Given the description of an element on the screen output the (x, y) to click on. 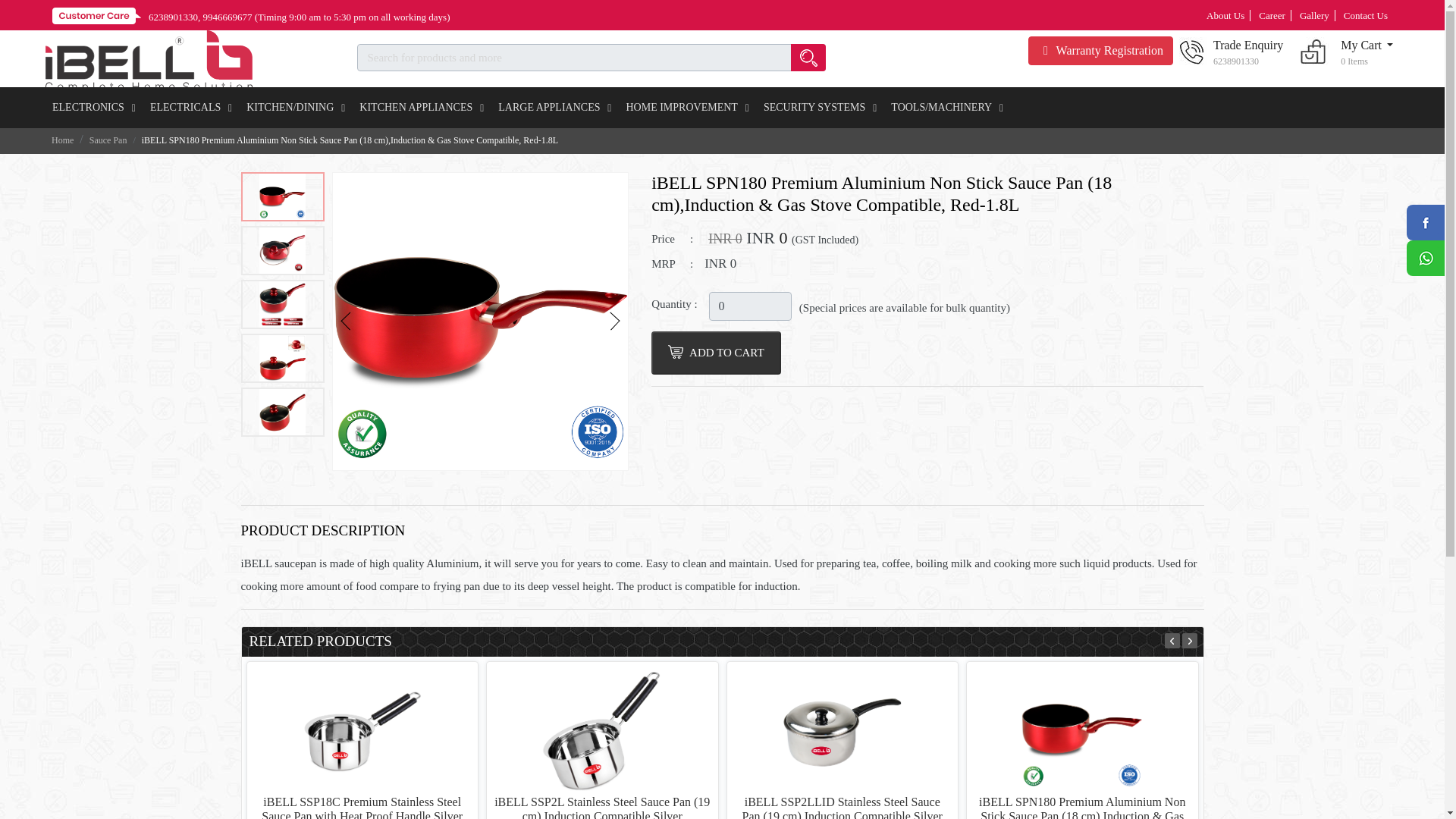
ELECTRICALS (191, 106)
About Us (1225, 15)
ELECTRONICS (93, 106)
Contact Us (1365, 15)
Gallery (1314, 15)
Warranty Registration (1100, 50)
0 (1343, 51)
Career (750, 306)
